Given the description of an element on the screen output the (x, y) to click on. 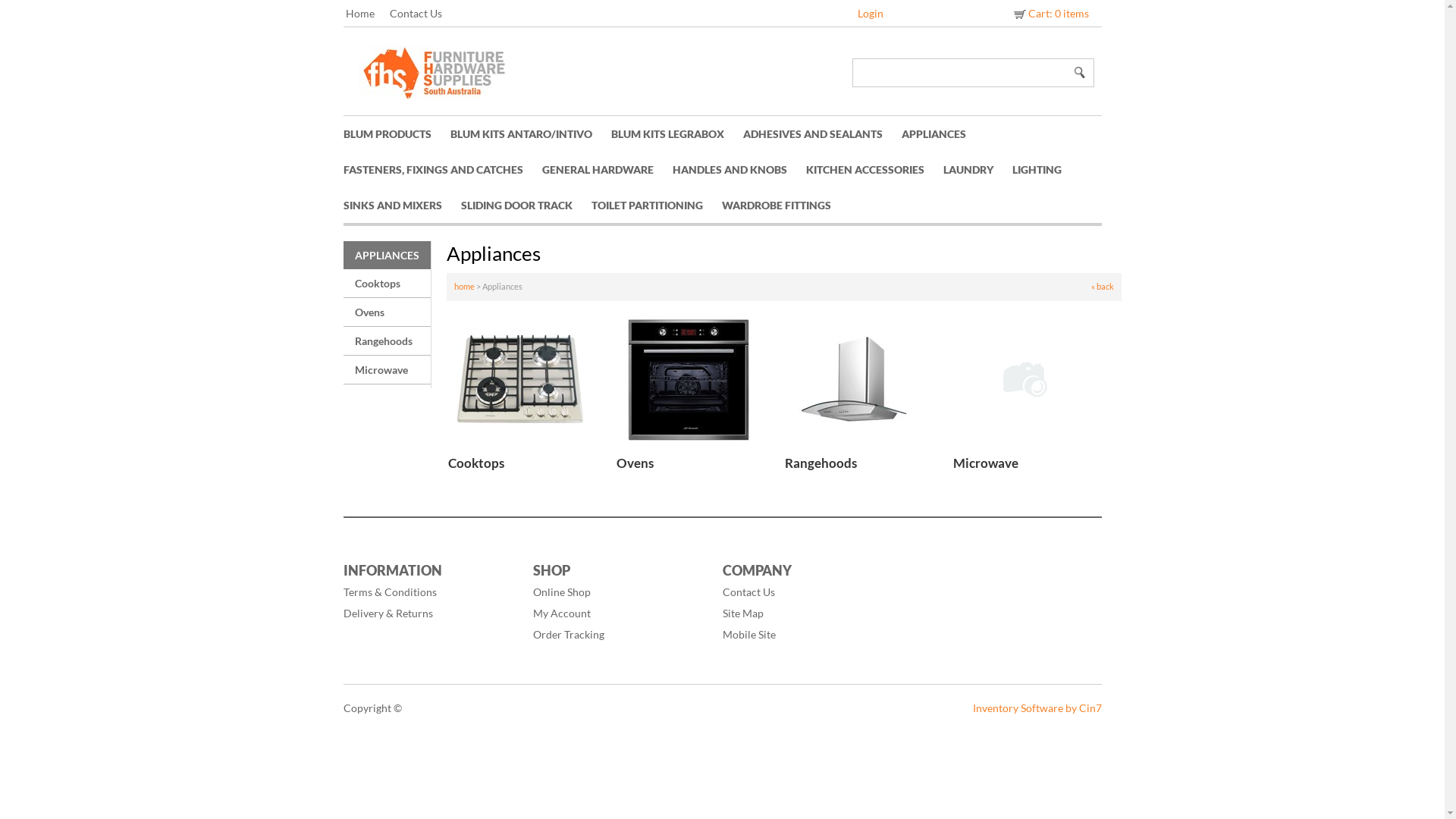
Site Map Element type: text (808, 613)
APPLIANCES Element type: text (385, 255)
Microwave Element type: text (984, 462)
FASTENERS, FIXINGS AND CATCHES Element type: text (441, 169)
Cart: 0 items Element type: text (1049, 12)
Terms & Conditions Element type: text (429, 591)
Mobile Site Element type: text (808, 634)
My Account Element type: text (619, 613)
home Element type: text (463, 286)
TOILET PARTITIONING Element type: text (656, 204)
WARDROBE FITTINGS Element type: text (785, 204)
Contact Us Element type: text (808, 591)
LIGHTING Element type: text (1045, 169)
Order Tracking Element type: text (619, 634)
Cooktops Element type: text (385, 283)
Online Shop Element type: text (619, 591)
SINKS AND MIXERS Element type: text (401, 204)
Rangehoods Element type: text (385, 340)
HANDLES AND KNOBS Element type: text (738, 169)
ADHESIVES AND SEALANTS Element type: text (822, 133)
Rangehoods Element type: text (820, 462)
Ovens Element type: text (633, 462)
KITCHEN ACCESSORIES Element type: text (873, 169)
BLUM PRODUCTS Element type: text (395, 133)
LAUNDRY Element type: text (977, 169)
Delivery & Returns Element type: text (429, 613)
Login Element type: text (870, 12)
Search Products... Element type: hover (960, 72)
Inventory Software by Cin7 Element type: text (1036, 707)
Cooktops Element type: text (475, 462)
BLUM KITS ANTARO/INTIVO Element type: text (530, 133)
Ovens Element type: text (385, 312)
Home Element type: text (367, 12)
APPLIANCES Element type: text (942, 133)
GENERAL HARDWARE Element type: text (606, 169)
SLIDING DOOR TRACK Element type: text (526, 204)
Microwave Element type: text (385, 369)
BLUM KITS LEGRABOX Element type: text (677, 133)
Contact Us Element type: text (423, 12)
